Given the description of an element on the screen output the (x, y) to click on. 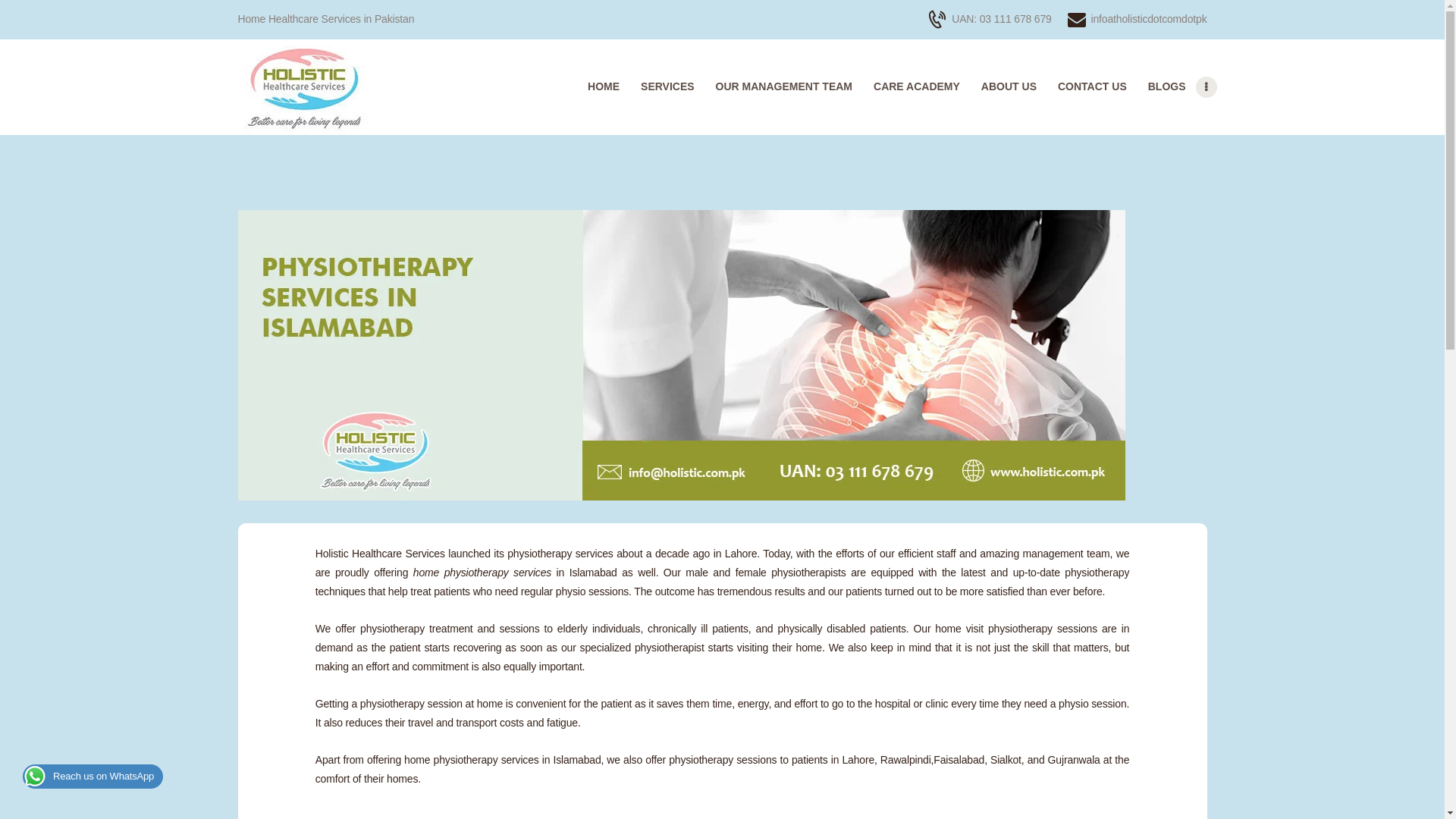
OUR MANAGEMENT TEAM (783, 86)
CONTACT US (1091, 86)
ABOUT US (1008, 86)
SERVICES (667, 86)
UAN: 03 111 678 679 (989, 19)
CARE ACADEMY (917, 86)
infoatholisticdotcomdotpk (1137, 19)
